Given the description of an element on the screen output the (x, y) to click on. 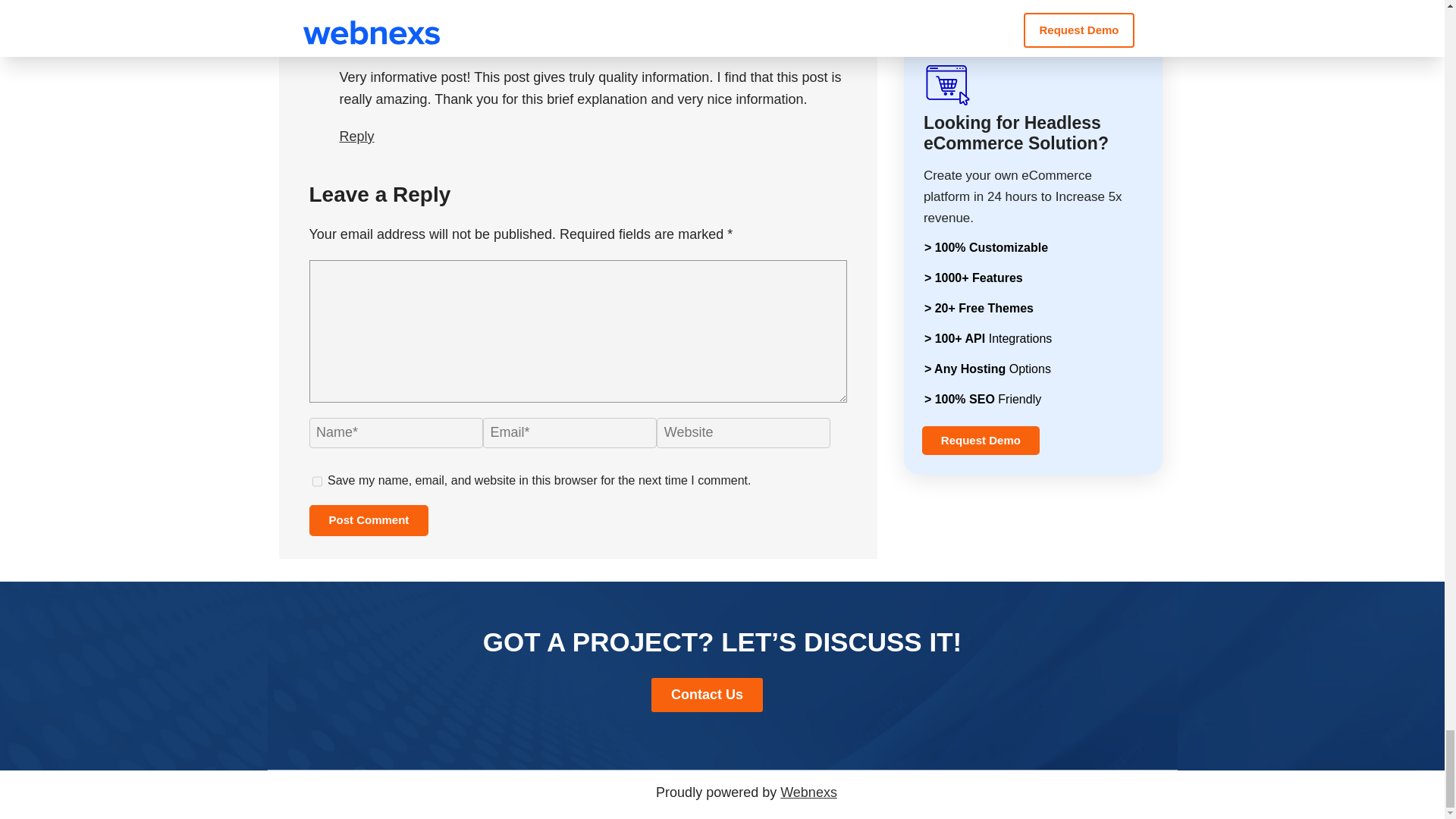
Post Comment (368, 520)
yes (317, 481)
